Given the description of an element on the screen output the (x, y) to click on. 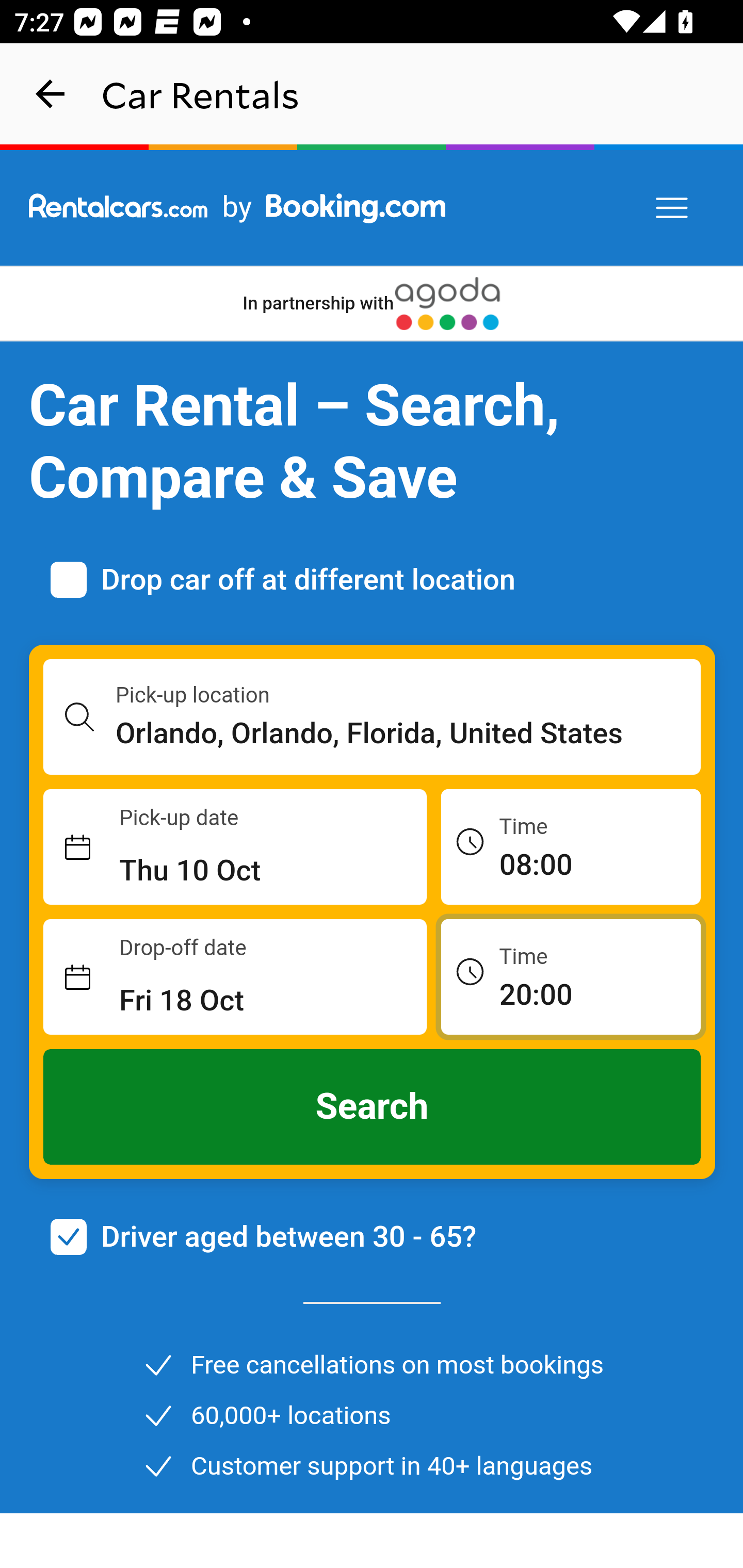
navigation_button (50, 93)
Menu (672, 208)
Orlando, Orlando, Florida, United States (408, 733)
Pick-up date Thu 10 Oct (235, 847)
08:00 (571, 845)
Drop-off date Fri 18 Oct (235, 977)
20:00 (571, 975)
Search (372, 1106)
